Given the description of an element on the screen output the (x, y) to click on. 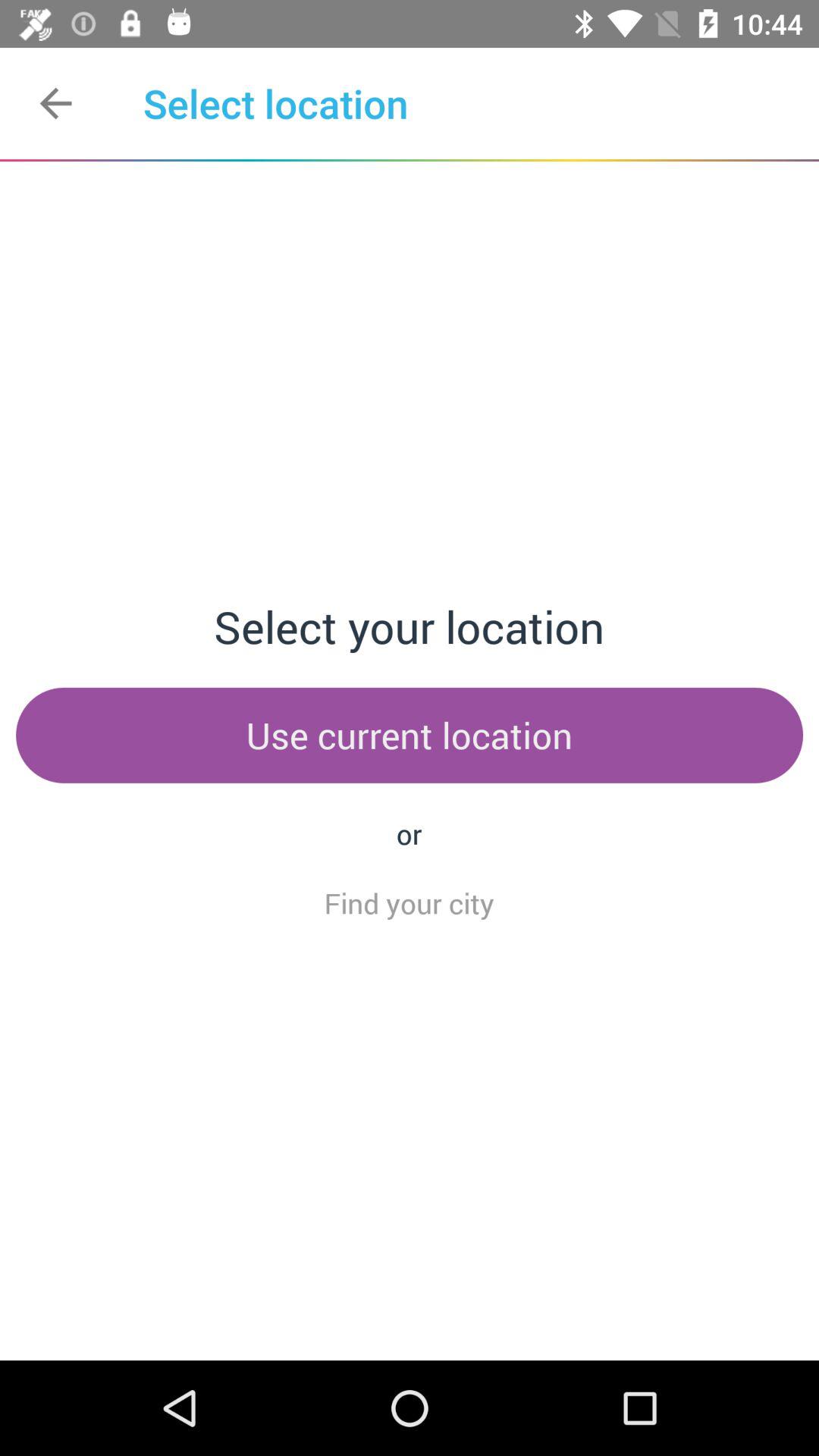
select item to the left of select location (55, 103)
